Given the description of an element on the screen output the (x, y) to click on. 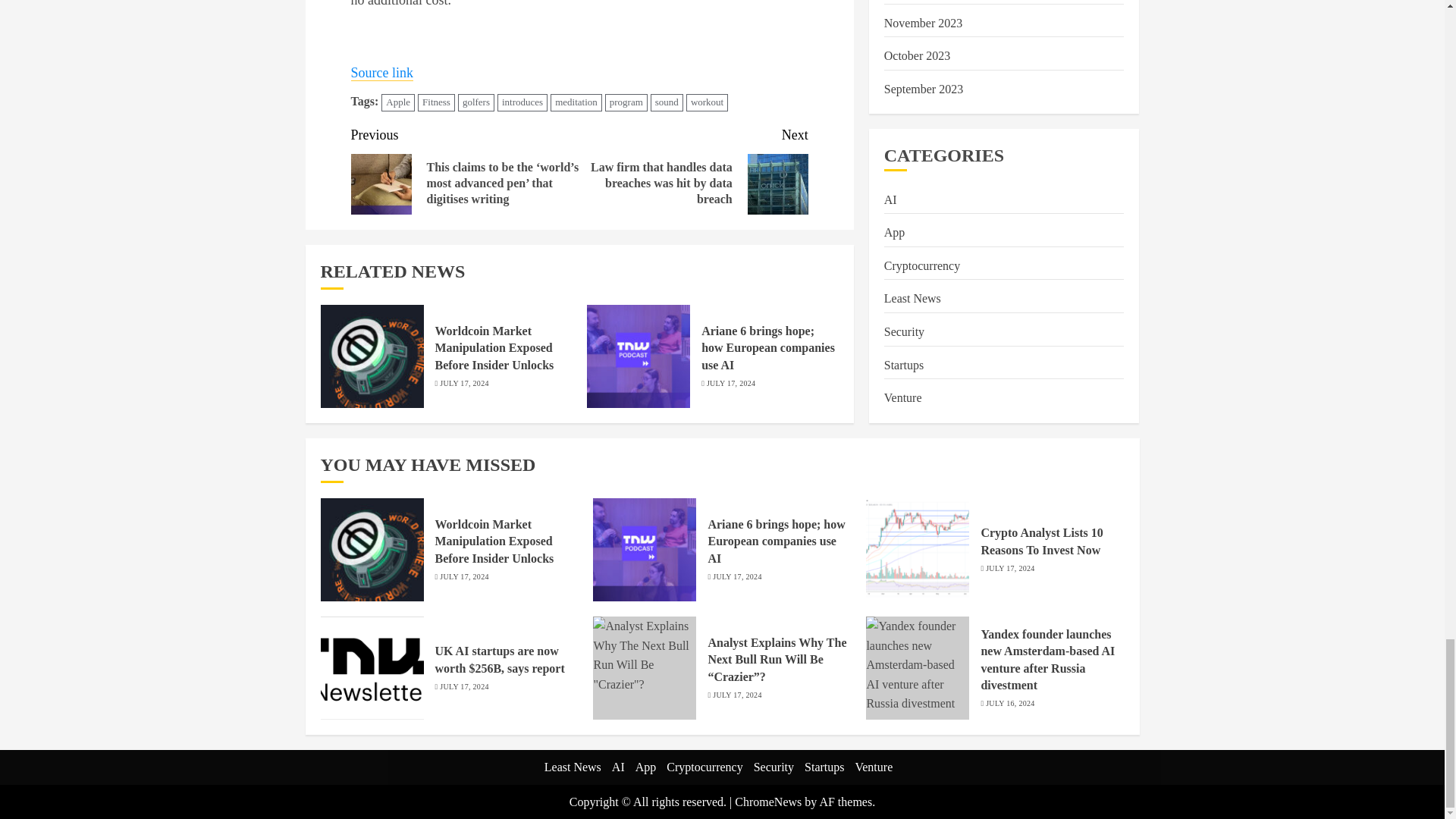
introduces (522, 102)
sound (666, 102)
Source link (381, 73)
golfers (476, 102)
workout (706, 102)
Apple (397, 102)
meditation (576, 102)
program (626, 102)
Fitness (435, 102)
